Given the description of an element on the screen output the (x, y) to click on. 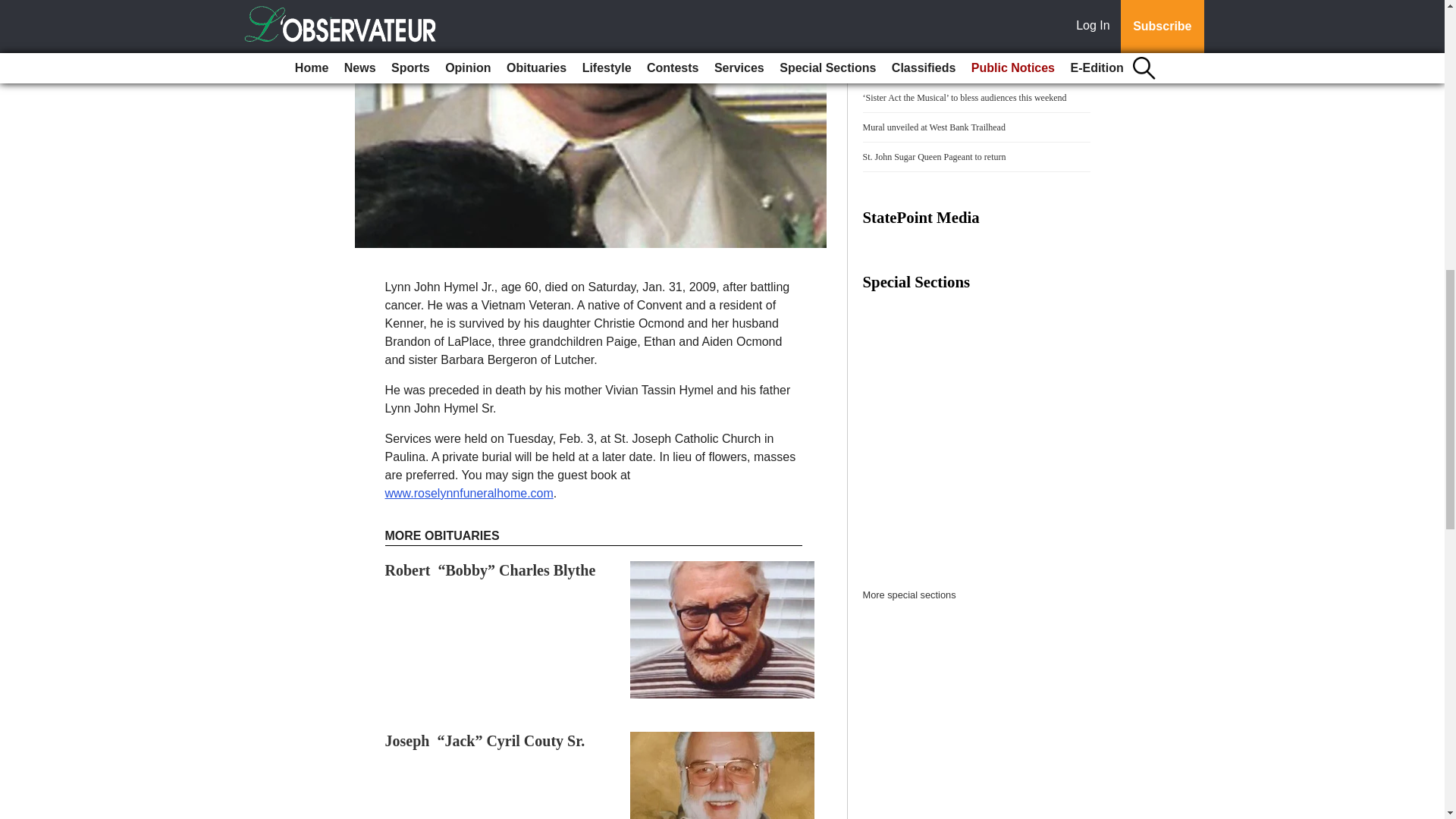
www.roselynnfuneralhome.com (469, 492)
Mural unveiled at West Bank Trailhead (934, 127)
Tackle Football Academy registration open through July 31 (970, 68)
Free volleyball coaching clinic set for July 25 (946, 38)
